Given the description of an element on the screen output the (x, y) to click on. 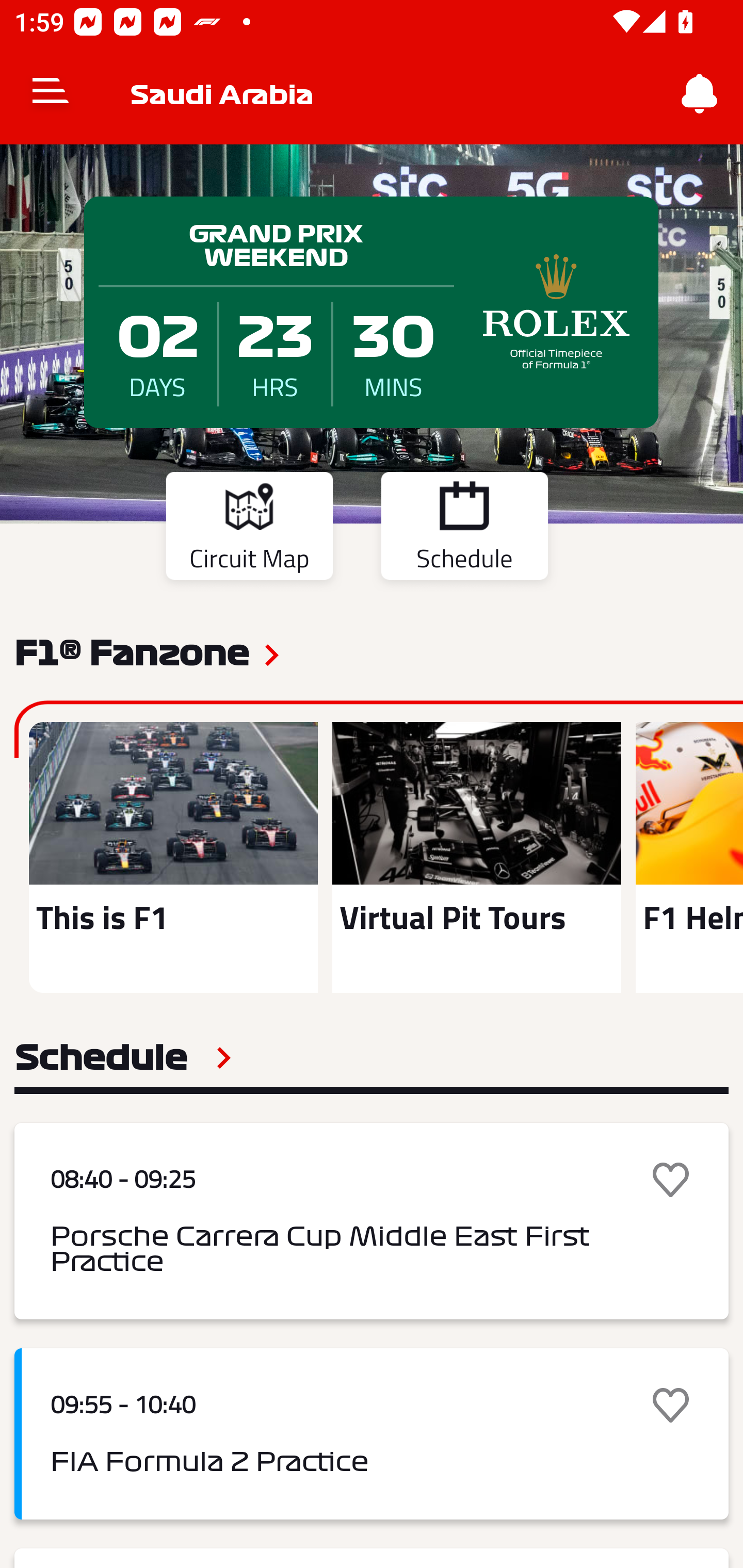
Navigate up (50, 93)
Notifications (699, 93)
Circuit Map (249, 528)
Schedule (464, 528)
F1® Fanzone (131, 651)
This is F1 (173, 857)
Virtual Pit Tours (476, 857)
Schedule (122, 1057)
09:55 - 10:40 FIA Formula 2 Practice (371, 1433)
